Given the description of an element on the screen output the (x, y) to click on. 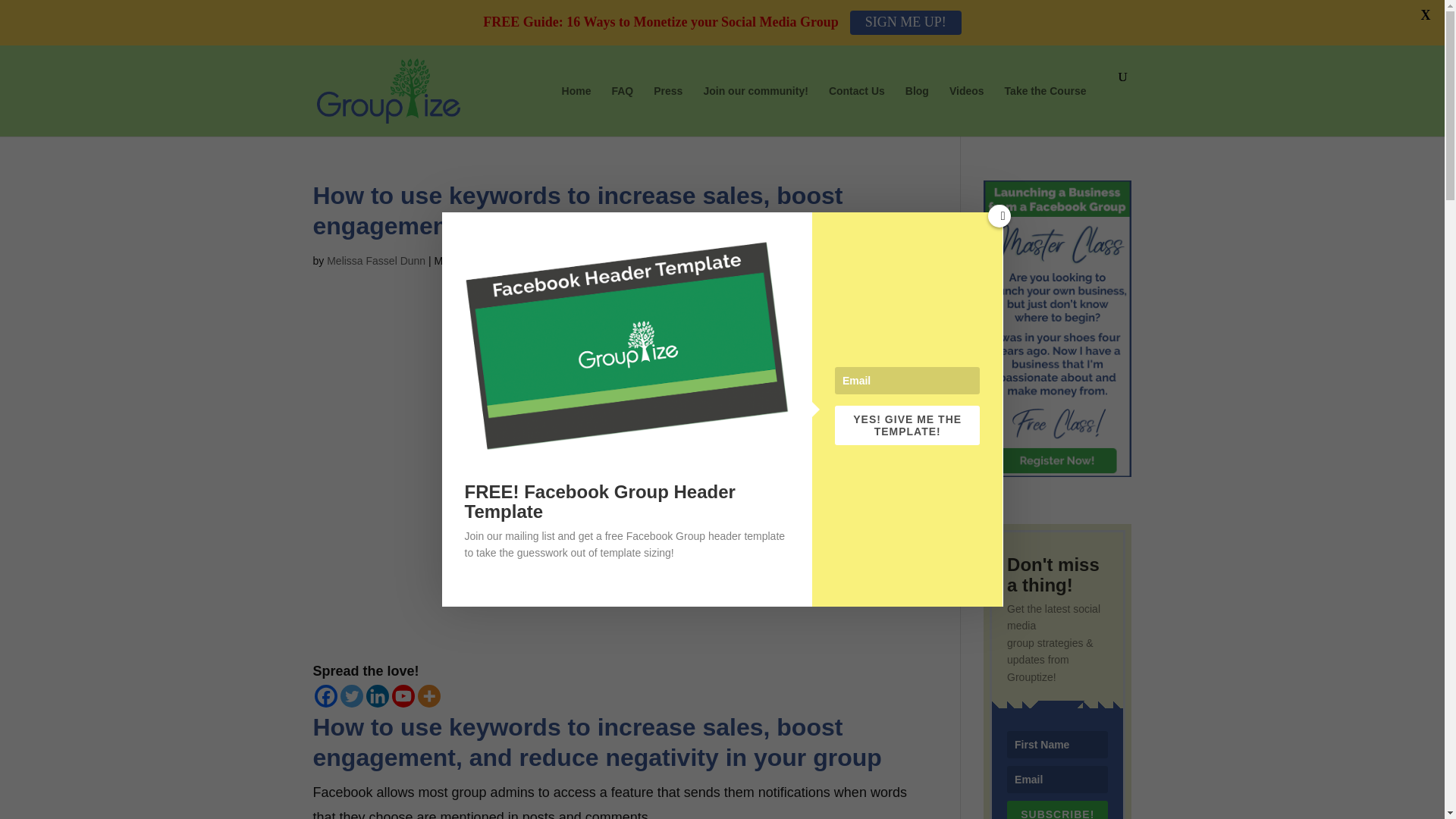
Videos (966, 103)
Take the Course (1045, 103)
updates (548, 260)
Join our community! (755, 103)
Contact Us (856, 103)
Melissa Fassel Dunn (375, 260)
Linkedin (376, 695)
0 comments (604, 260)
Youtube (402, 695)
SUBSCRIBE! (1057, 809)
Twitter (350, 695)
Posts by Melissa Fassel Dunn (375, 260)
Facebook (325, 695)
More (427, 695)
tips (515, 260)
